Given the description of an element on the screen output the (x, y) to click on. 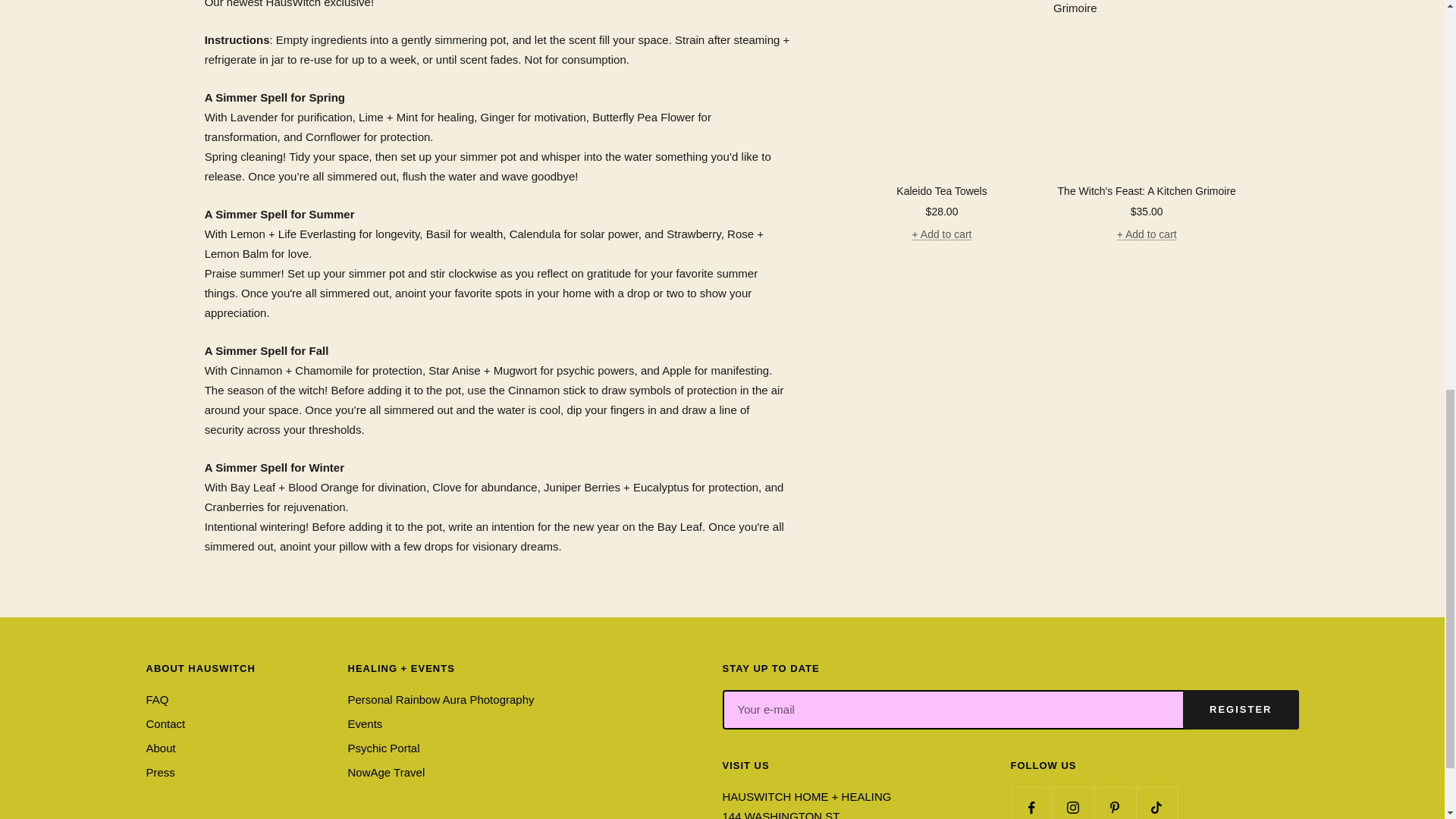
Register (1240, 709)
